Given the description of an element on the screen output the (x, y) to click on. 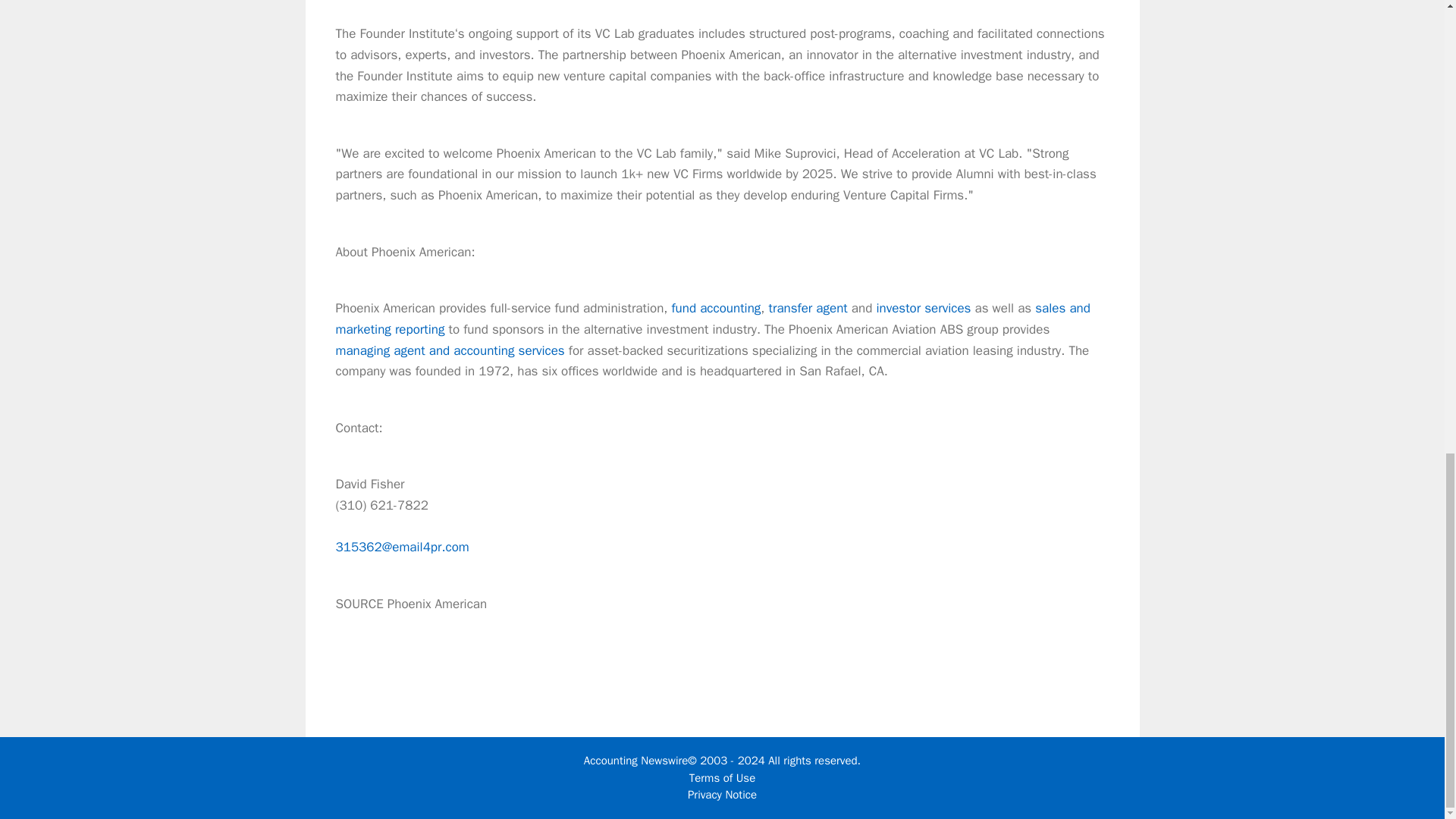
Privacy Notice (722, 794)
fund accounting (716, 308)
investor services (923, 308)
managing agent and accounting services (449, 350)
Terms of Use (721, 777)
transfer agent (807, 308)
sales and marketing reporting (711, 318)
